Given the description of an element on the screen output the (x, y) to click on. 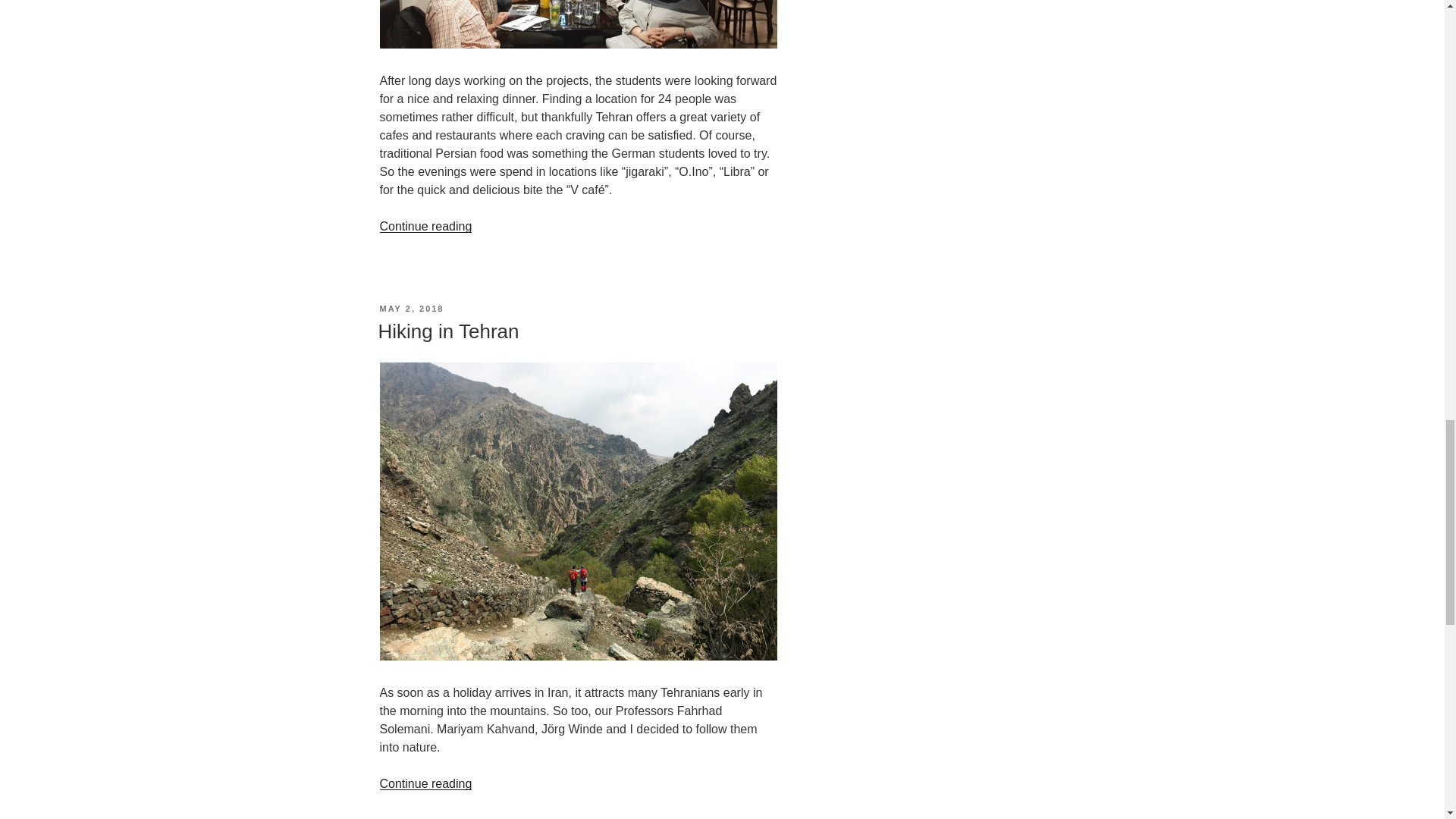
MAY 2, 2018 (411, 307)
02.05.2018-12 (577, 656)
Hiking in Tehran (447, 331)
